Given the description of an element on the screen output the (x, y) to click on. 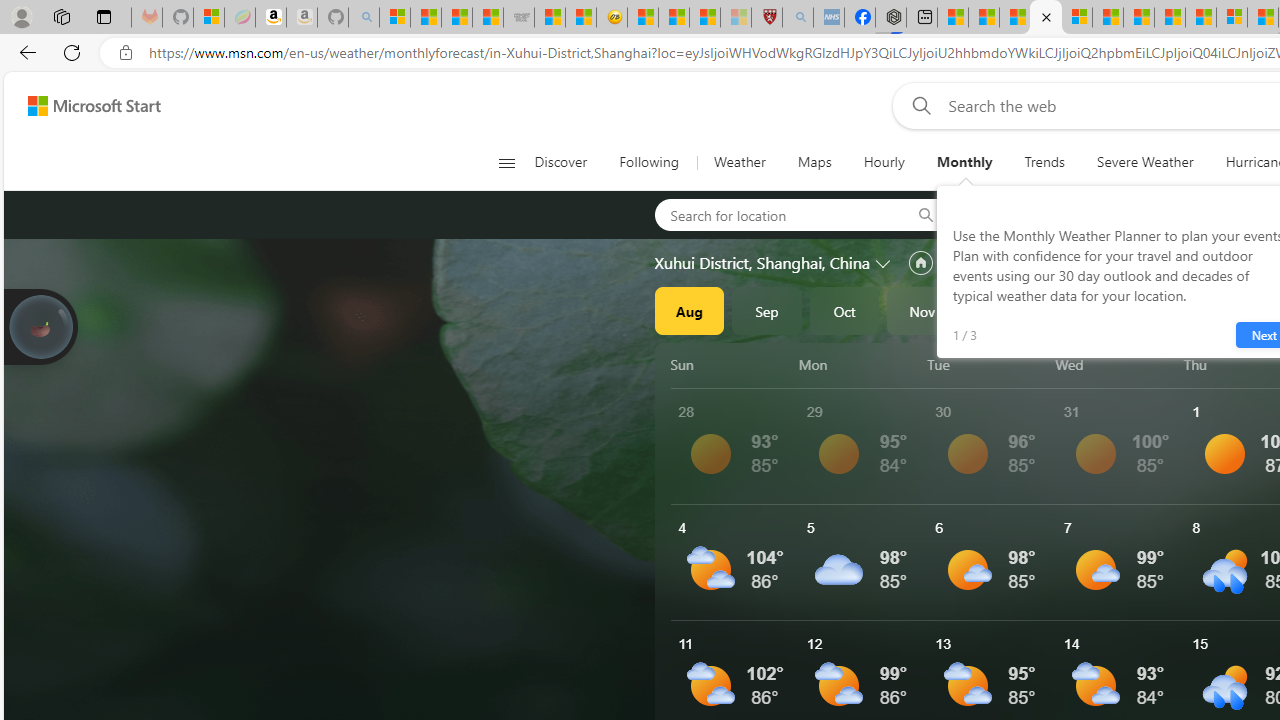
Xuhui District, Shanghai, China (762, 263)
Sep (767, 310)
Mar (1233, 310)
Mon (859, 363)
Hourly (884, 162)
Severe Weather (1145, 162)
Tue (987, 363)
